Given the description of an element on the screen output the (x, y) to click on. 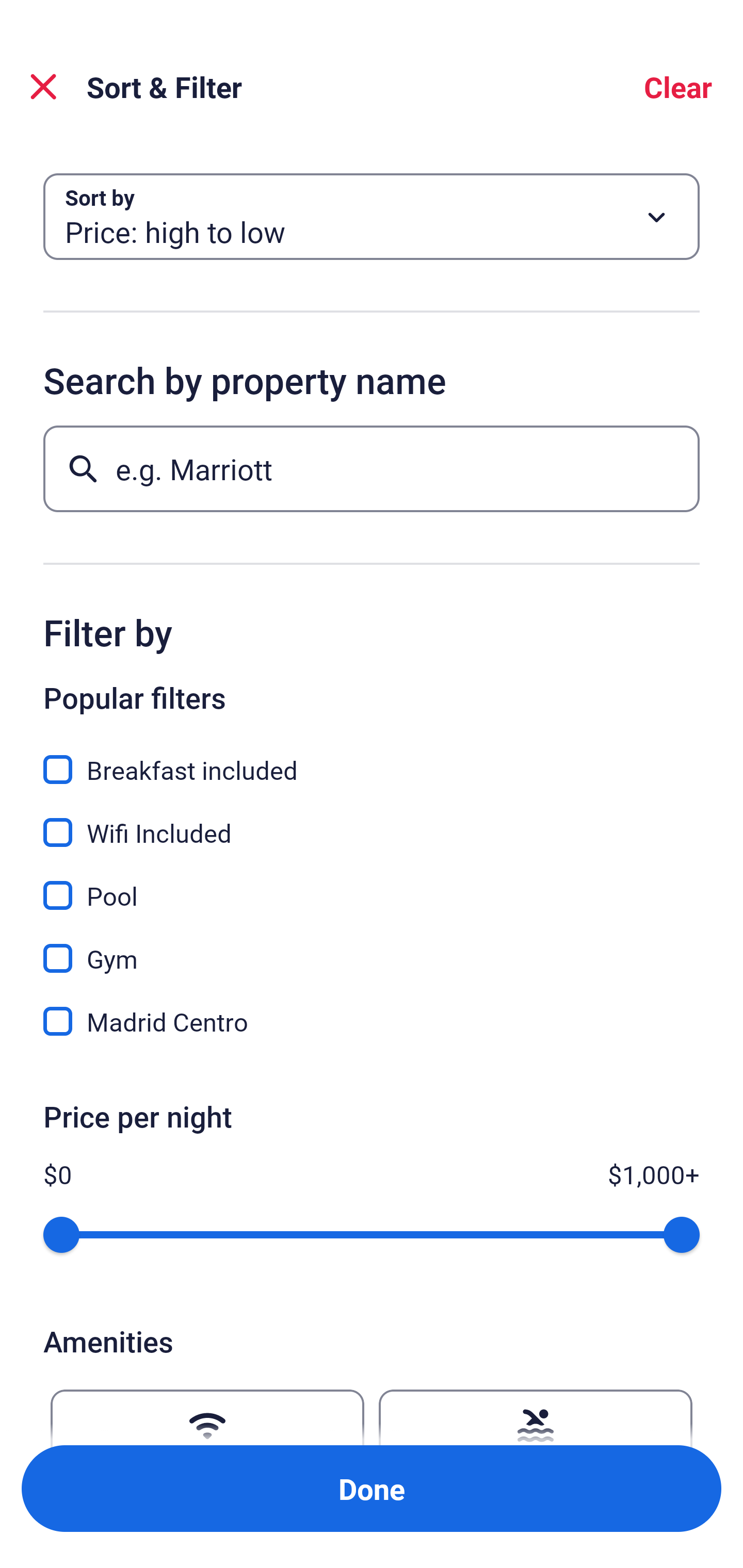
Close Sort and Filter (43, 86)
Clear (677, 86)
Sort by Button Price: high to low (371, 217)
e.g. Marriott Button (371, 468)
Breakfast included, Breakfast included (371, 757)
Wifi Included, Wifi Included (371, 821)
Pool, Pool (371, 883)
Gym, Gym (371, 946)
Madrid Centro, Madrid Centro (371, 1021)
Apply and close Sort and Filter Done (371, 1488)
